Given the description of an element on the screen output the (x, y) to click on. 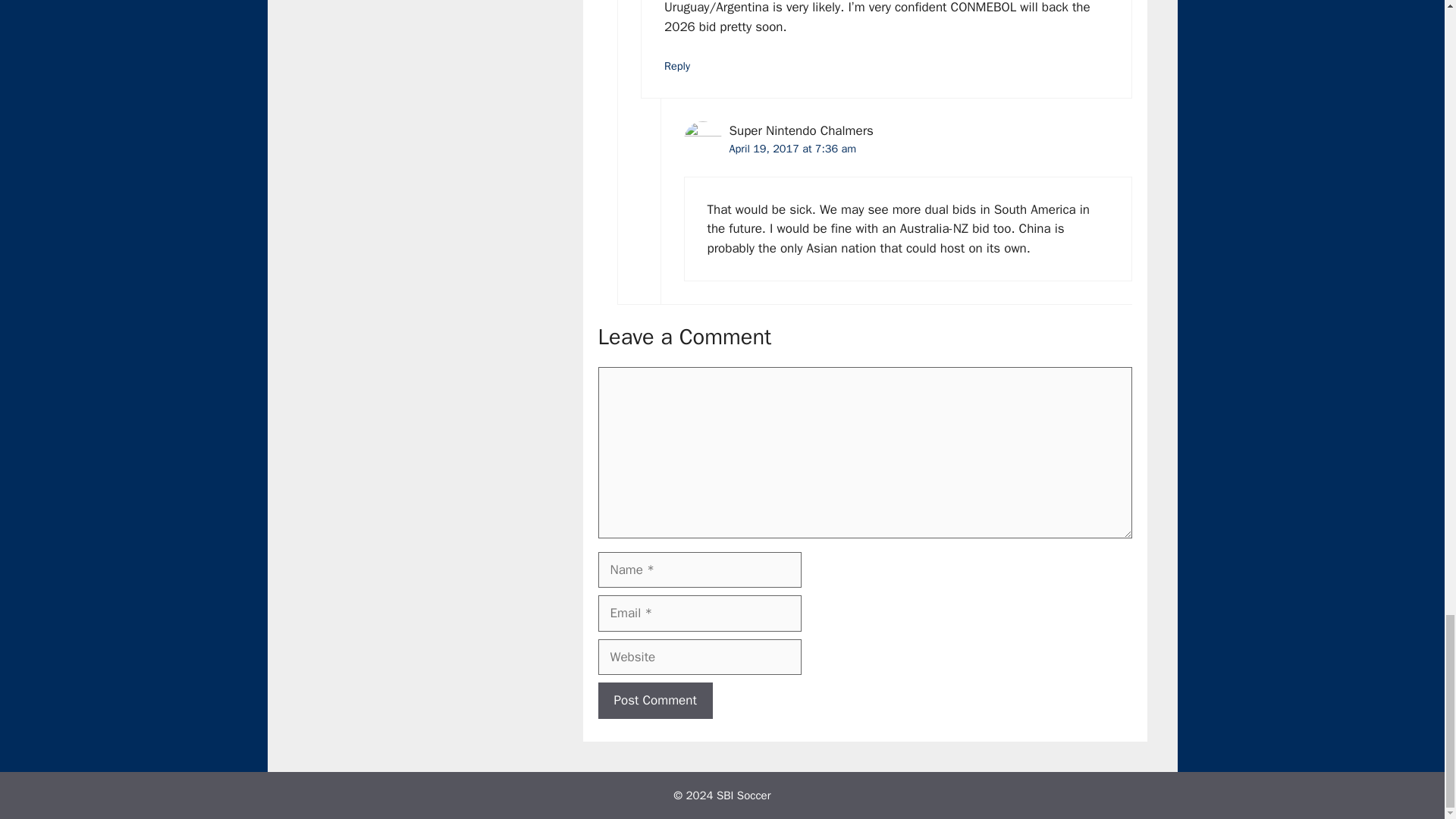
Post Comment (653, 700)
